Given the description of an element on the screen output the (x, y) to click on. 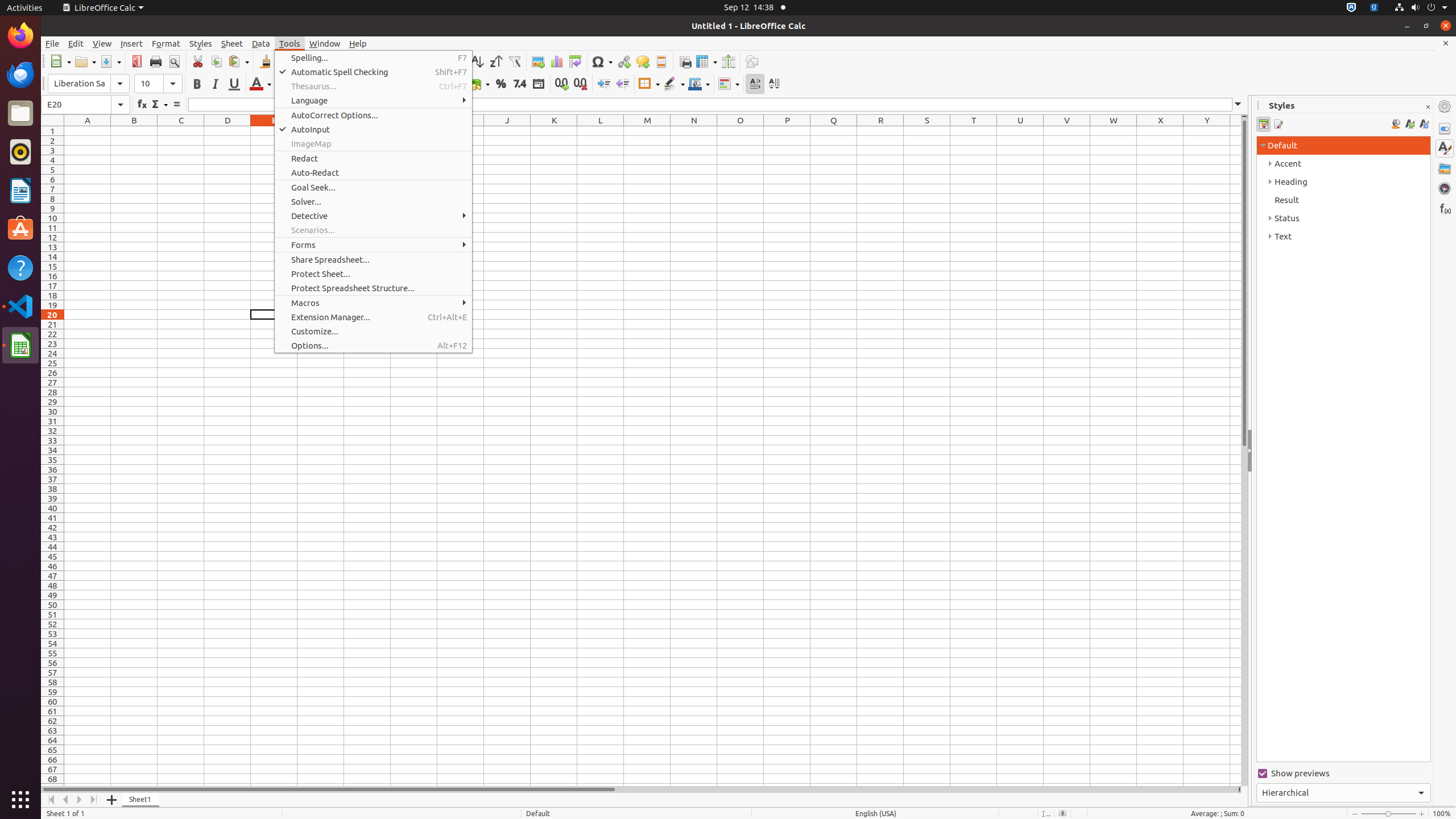
Data Element type: menu (260, 43)
L1 Element type: table-cell (600, 130)
Thesaurus... Element type: menu-item (373, 86)
Spelling... Element type: menu-item (373, 57)
Print Element type: push-button (155, 61)
